Given the description of an element on the screen output the (x, y) to click on. 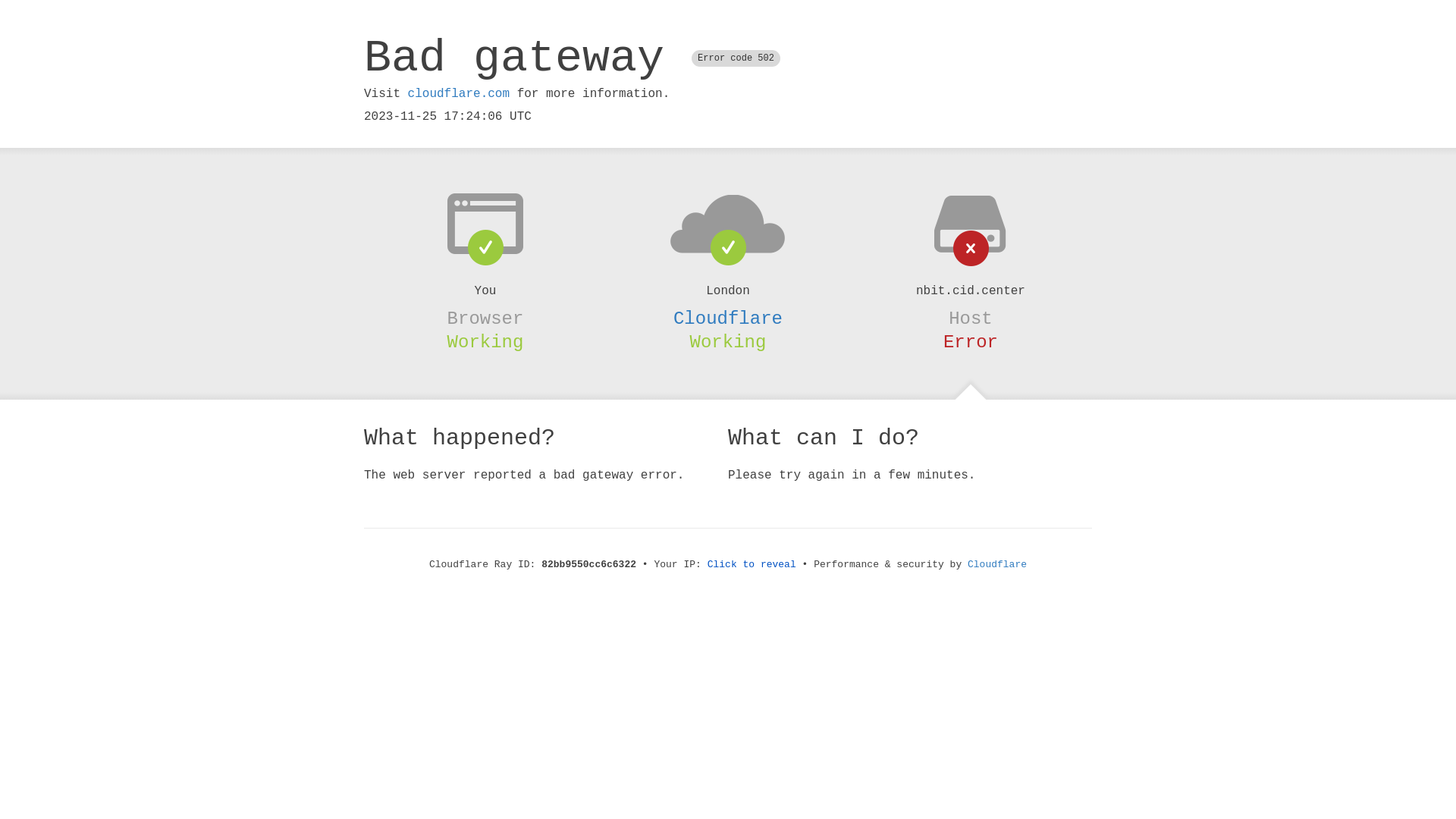
cloudflare.com Element type: text (458, 93)
Cloudflare Element type: text (727, 318)
Click to reveal Element type: text (751, 564)
Cloudflare Element type: text (996, 564)
